Given the description of an element on the screen output the (x, y) to click on. 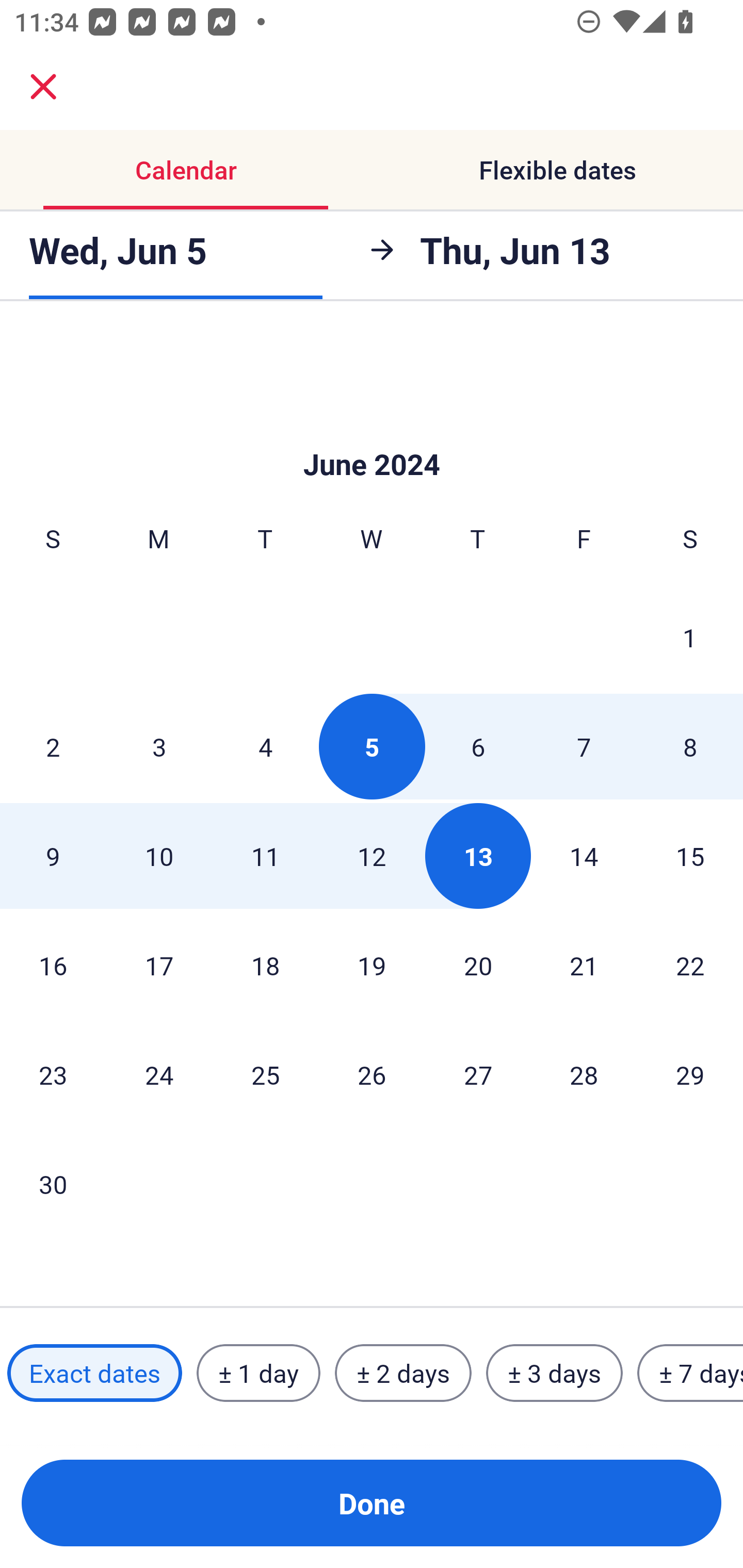
close. (43, 86)
Flexible dates (557, 170)
Skip to Done (371, 433)
1 Saturday, June 1, 2024 (689, 636)
2 Sunday, June 2, 2024 (53, 746)
3 Monday, June 3, 2024 (159, 746)
4 Tuesday, June 4, 2024 (265, 746)
14 Friday, June 14, 2024 (584, 855)
15 Saturday, June 15, 2024 (690, 855)
16 Sunday, June 16, 2024 (53, 964)
17 Monday, June 17, 2024 (159, 964)
18 Tuesday, June 18, 2024 (265, 964)
19 Wednesday, June 19, 2024 (371, 964)
20 Thursday, June 20, 2024 (477, 964)
21 Friday, June 21, 2024 (584, 964)
22 Saturday, June 22, 2024 (690, 964)
23 Sunday, June 23, 2024 (53, 1074)
24 Monday, June 24, 2024 (159, 1074)
25 Tuesday, June 25, 2024 (265, 1074)
26 Wednesday, June 26, 2024 (371, 1074)
27 Thursday, June 27, 2024 (477, 1074)
28 Friday, June 28, 2024 (584, 1074)
29 Saturday, June 29, 2024 (690, 1074)
30 Sunday, June 30, 2024 (53, 1183)
Exact dates (94, 1372)
± 1 day (258, 1372)
± 2 days (403, 1372)
± 3 days (553, 1372)
± 7 days (690, 1372)
Done (371, 1502)
